Given the description of an element on the screen output the (x, y) to click on. 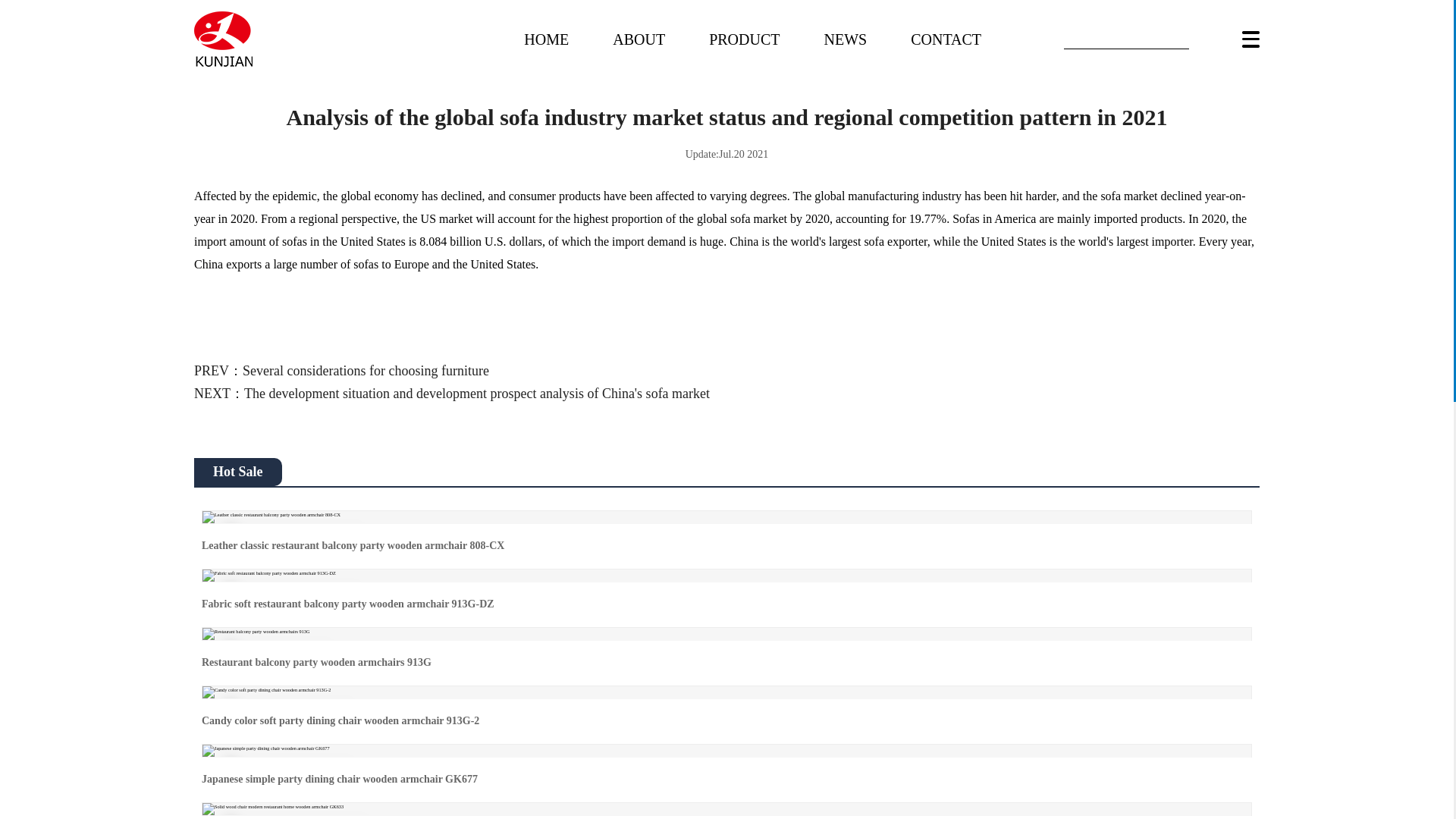
CONTACT (946, 38)
HOME (546, 38)
NEWS (845, 38)
ABOUT (638, 38)
PRODUCT (743, 38)
